Given the description of an element on the screen output the (x, y) to click on. 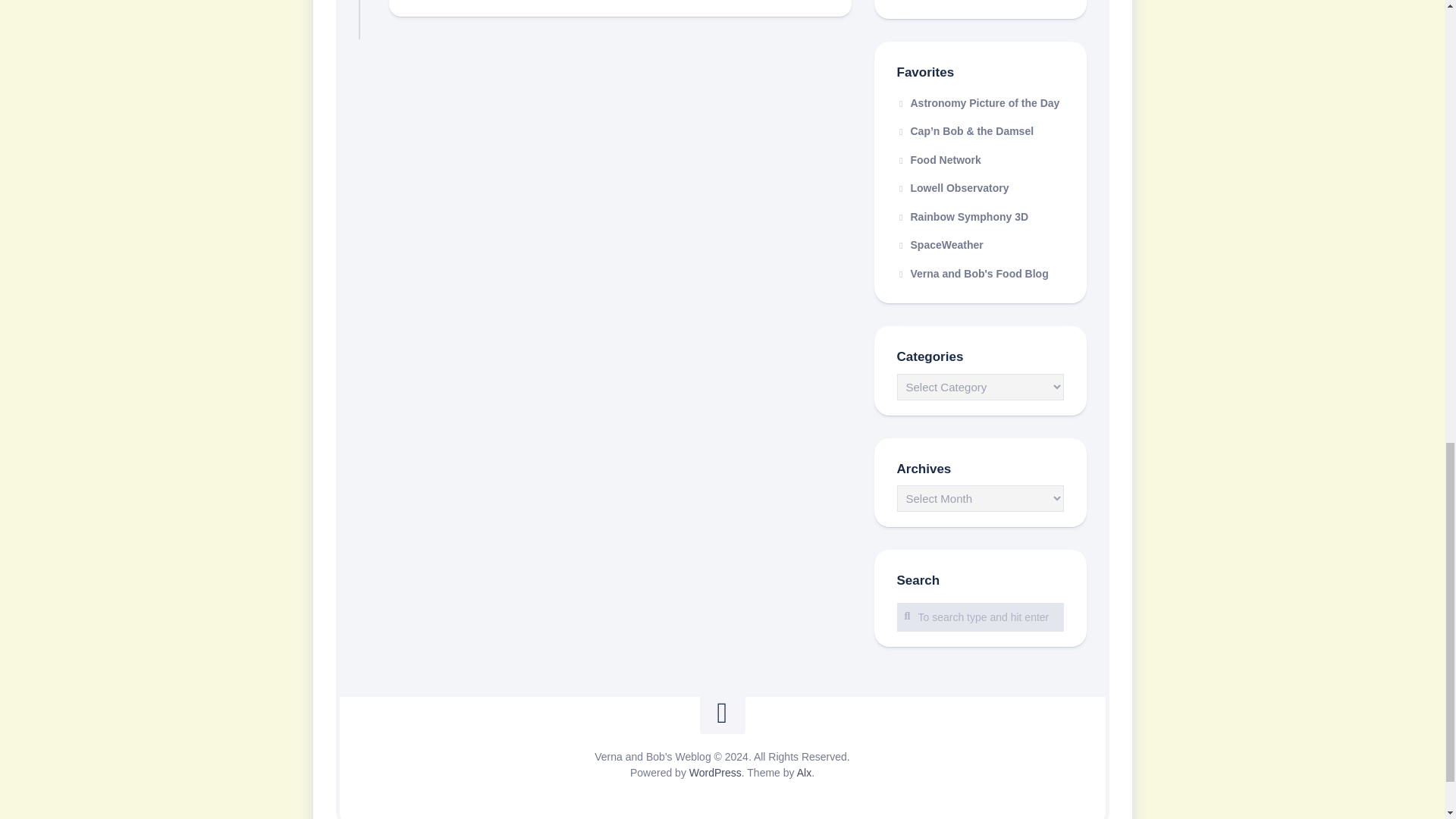
To search type and hit enter (979, 615)
To search type and hit enter (979, 615)
News about Space (939, 244)
Friends of Lowell (952, 187)
Astronomy Picture of the Day (977, 102)
Food Network (937, 159)
Free 3D Glasses (961, 216)
Food Network (937, 159)
Astronomy Picture of the Day (977, 102)
Anniversary Gemstone List (979, 2)
Classy Cuisine (972, 272)
Rainbow Symphony 3D (961, 216)
Lowell Observatory (952, 187)
